Given the description of an element on the screen output the (x, y) to click on. 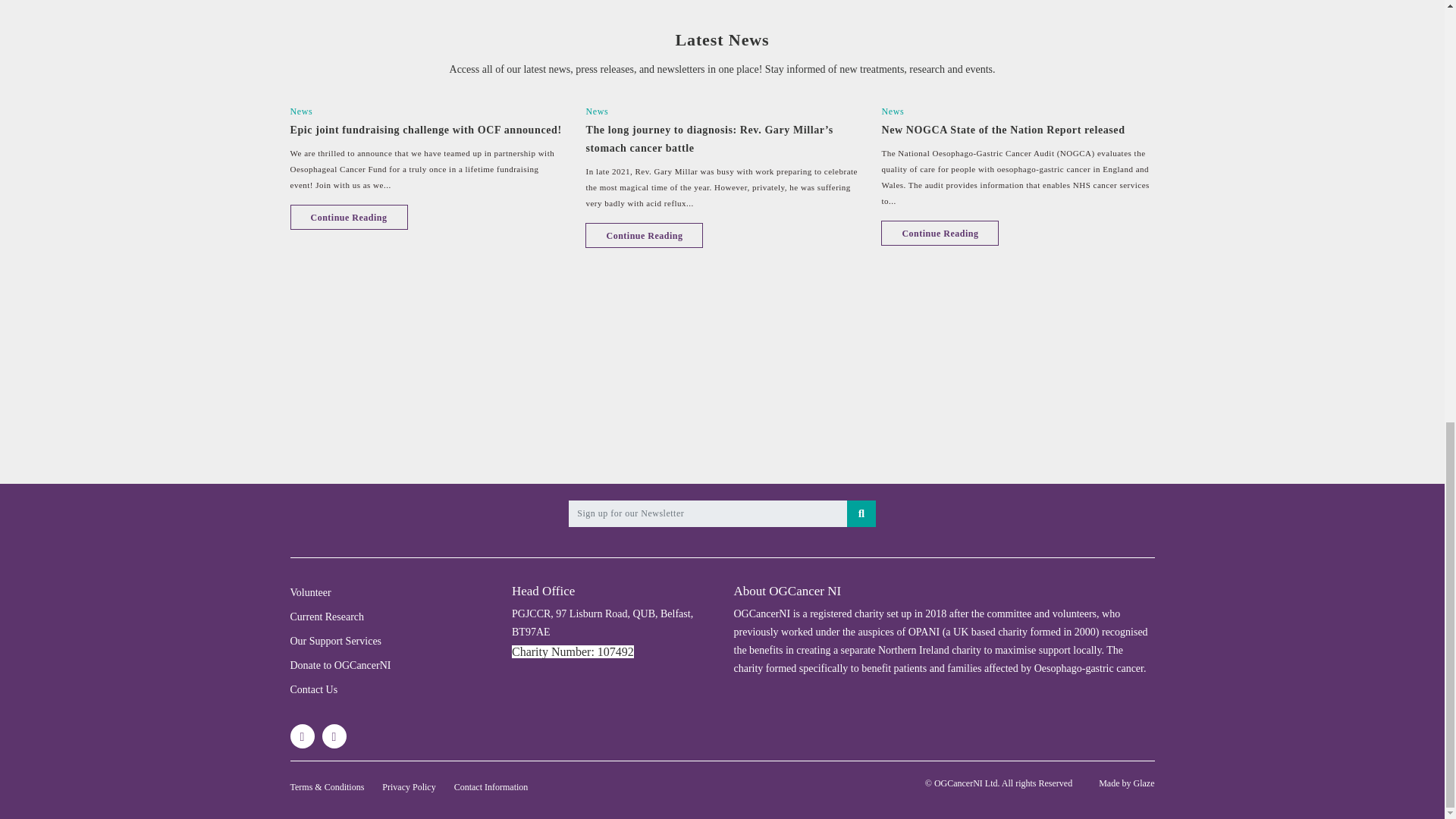
Donate to OGCancerNI (339, 665)
Continue Reading (348, 217)
Glaze (1144, 783)
Volunteer (309, 592)
Our Support Services (335, 641)
Contact Us (313, 689)
Contact Information (491, 787)
Privacy Policy (408, 787)
Continue Reading (644, 235)
Continue Reading (939, 232)
